Given the description of an element on the screen output the (x, y) to click on. 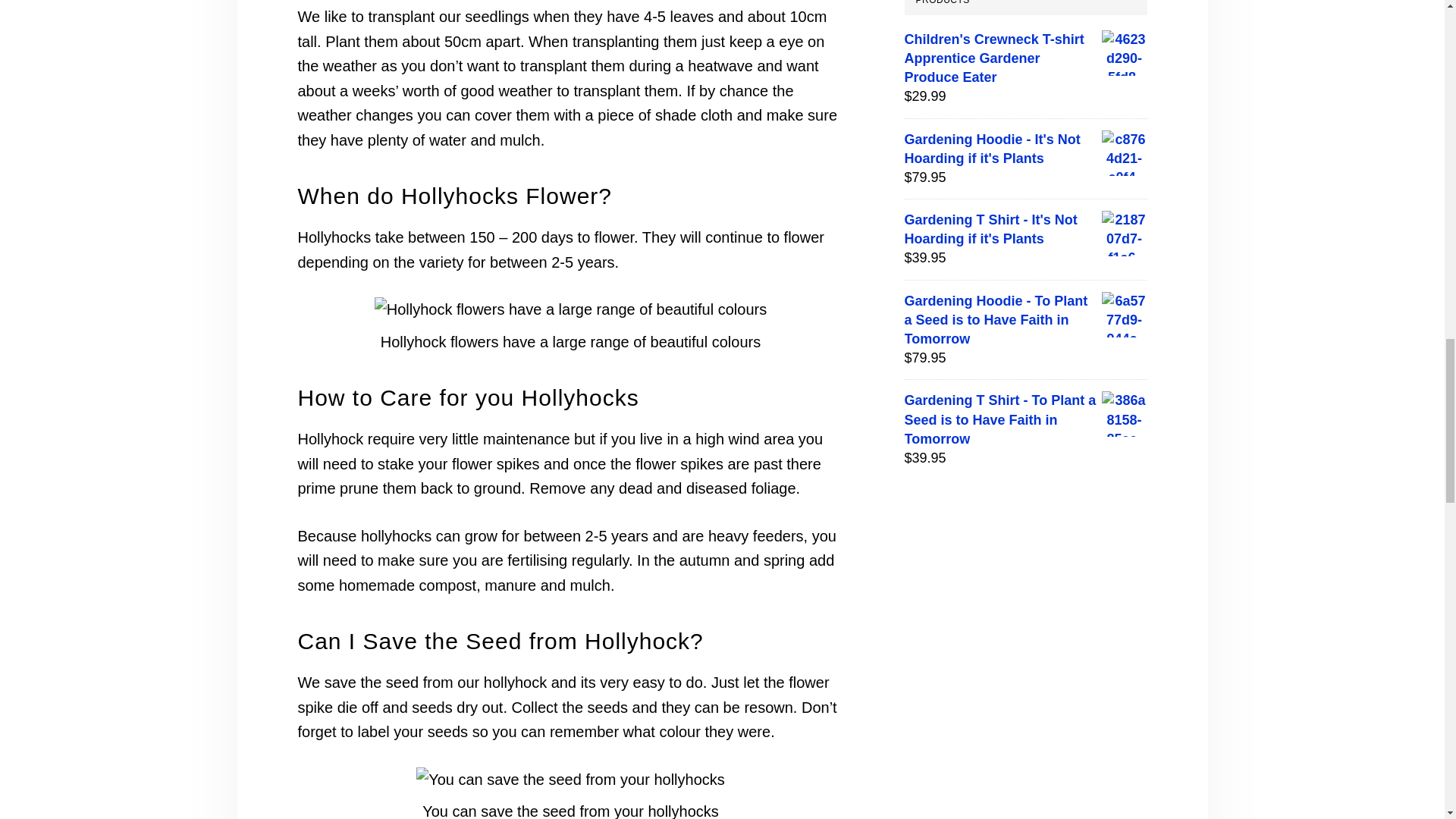
Gardening T Shirt - It's Not Hoarding if it's Plants (1025, 229)
Gardening Hoodie - It's Not Hoarding if it's Plants (1025, 149)
